Given the description of an element on the screen output the (x, y) to click on. 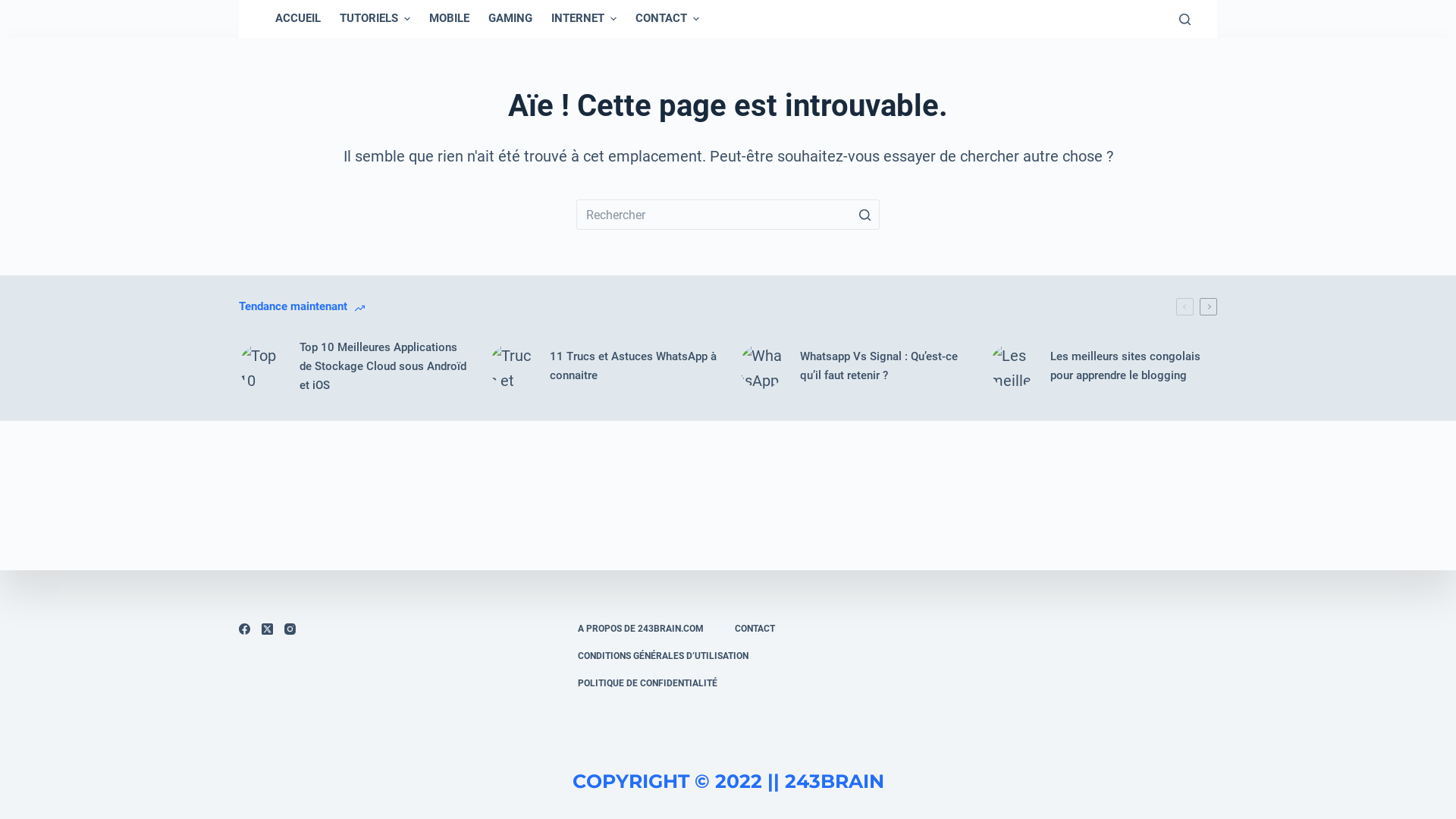
CONTACT Element type: text (754, 629)
A PROPOS DE 243BRAIN.COM Element type: text (639, 629)
MOBILE Element type: text (448, 18)
TUTORIELS Element type: text (374, 18)
INTERNET Element type: text (583, 18)
Passer au contenu Element type: text (15, 7)
ACCUEIL Element type: text (297, 18)
Les meilleurs sites congolais pour apprendre le blogging Element type: text (1103, 366)
GAMING Element type: text (509, 18)
CONTACT Element type: text (666, 18)
